Given the description of an element on the screen output the (x, y) to click on. 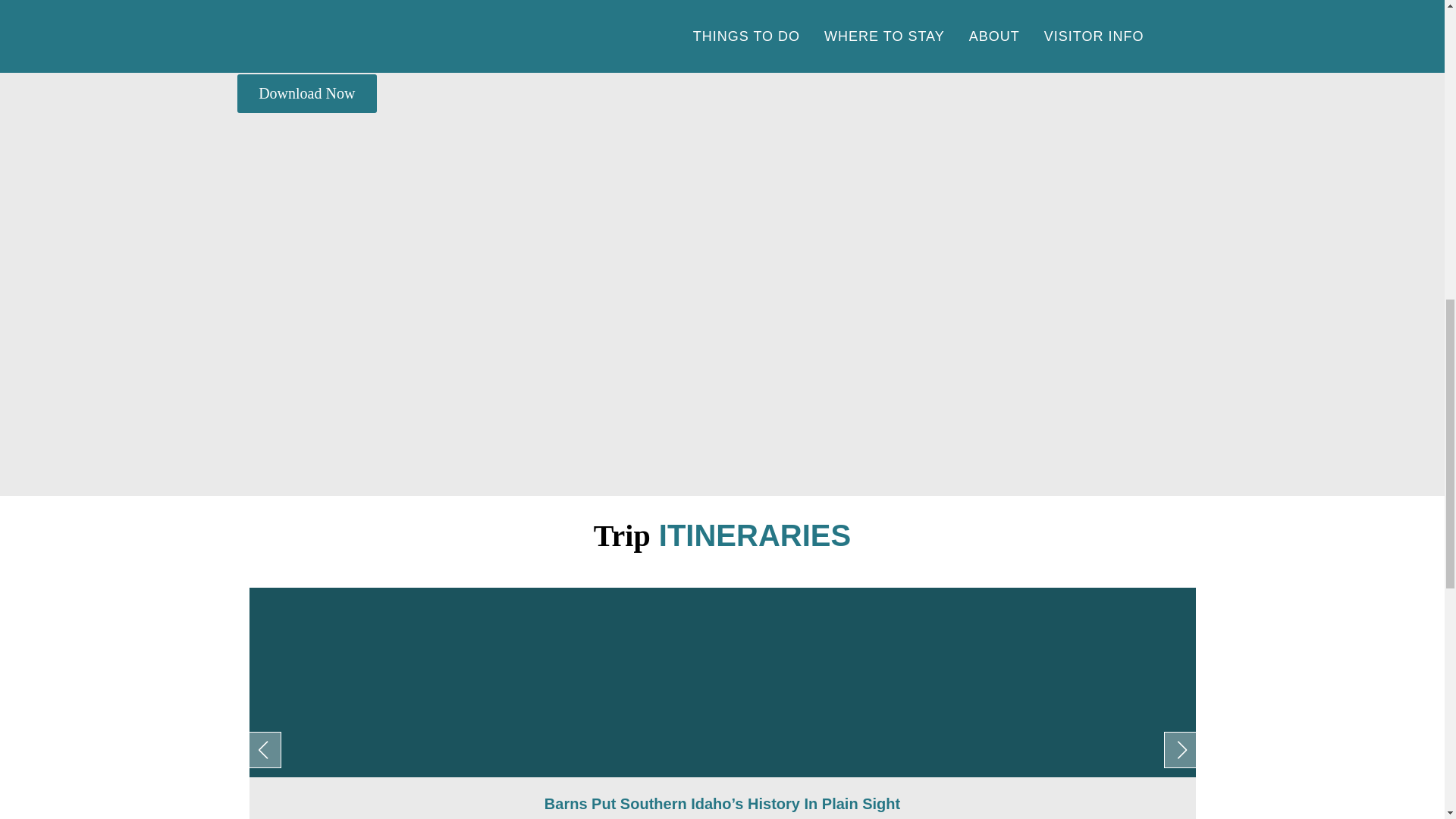
Download Now (306, 93)
